Given the description of an element on the screen output the (x, y) to click on. 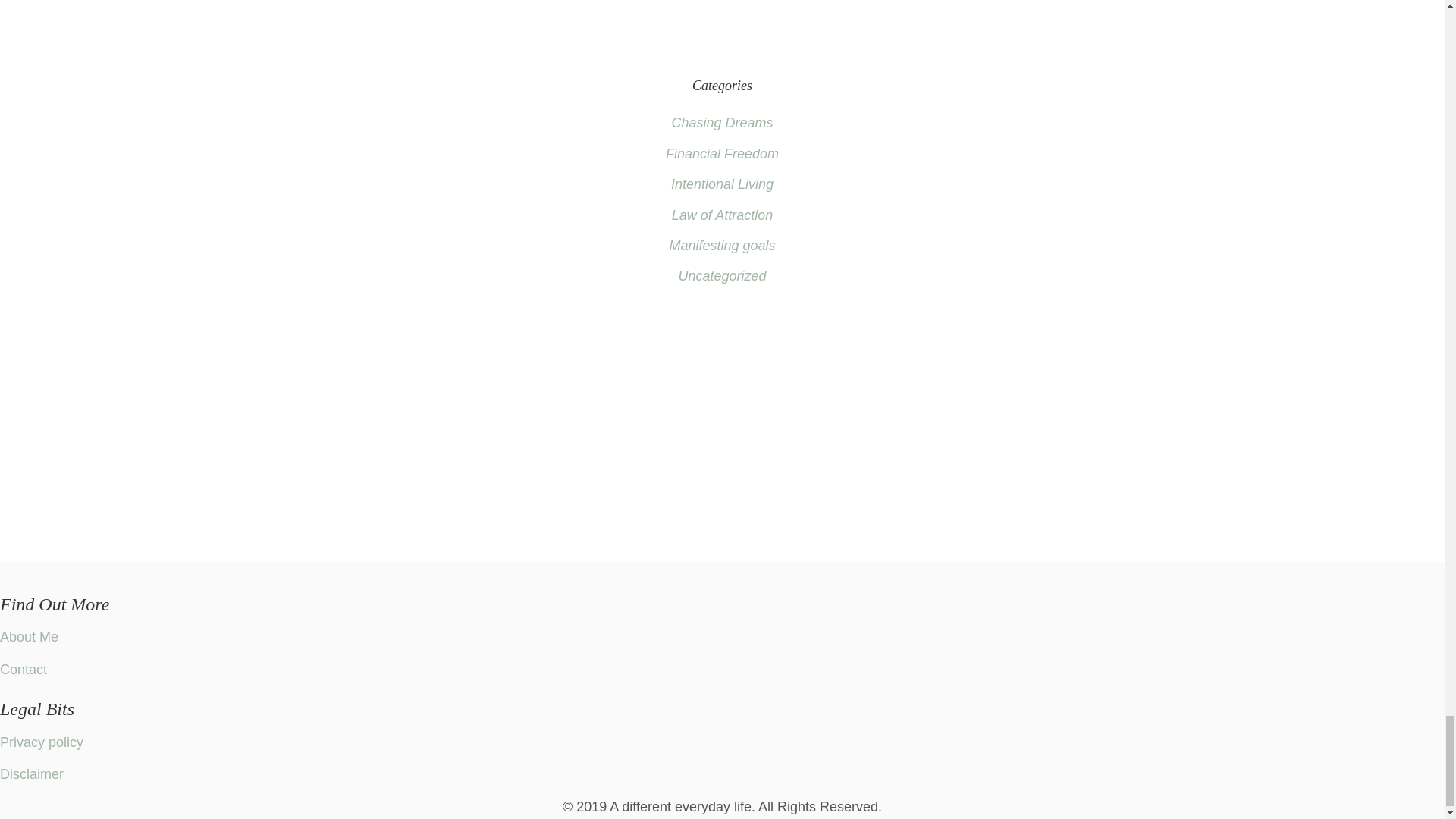
Uncategorized (721, 275)
About Me (29, 636)
Intentional Living (722, 183)
Manifesting goals (721, 245)
Law of Attraction (722, 215)
Contact (23, 669)
Chasing Dreams (722, 122)
Financial Freedom (721, 153)
